Given the description of an element on the screen output the (x, y) to click on. 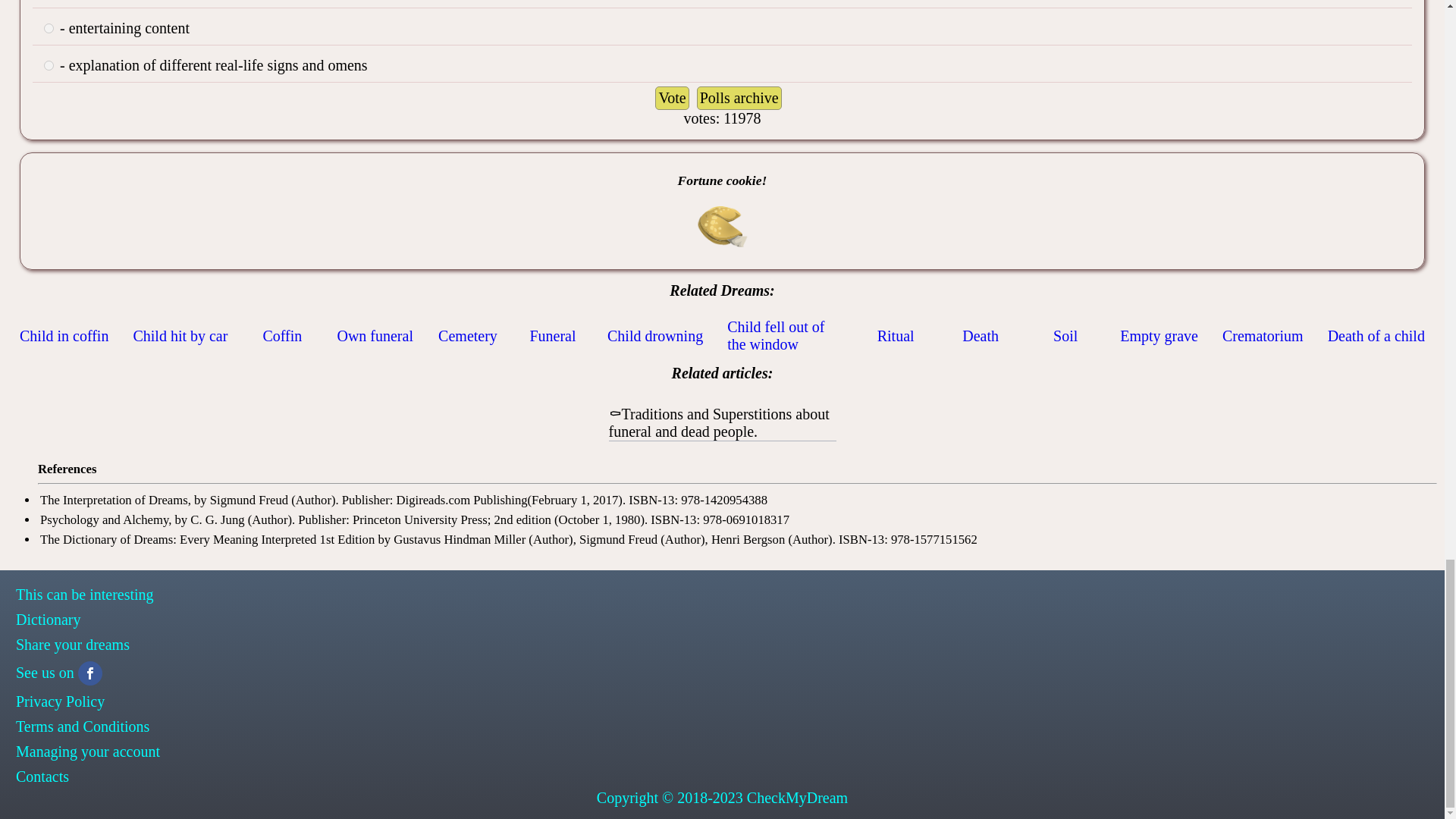
on (48, 28)
on (48, 65)
